Given the description of an element on the screen output the (x, y) to click on. 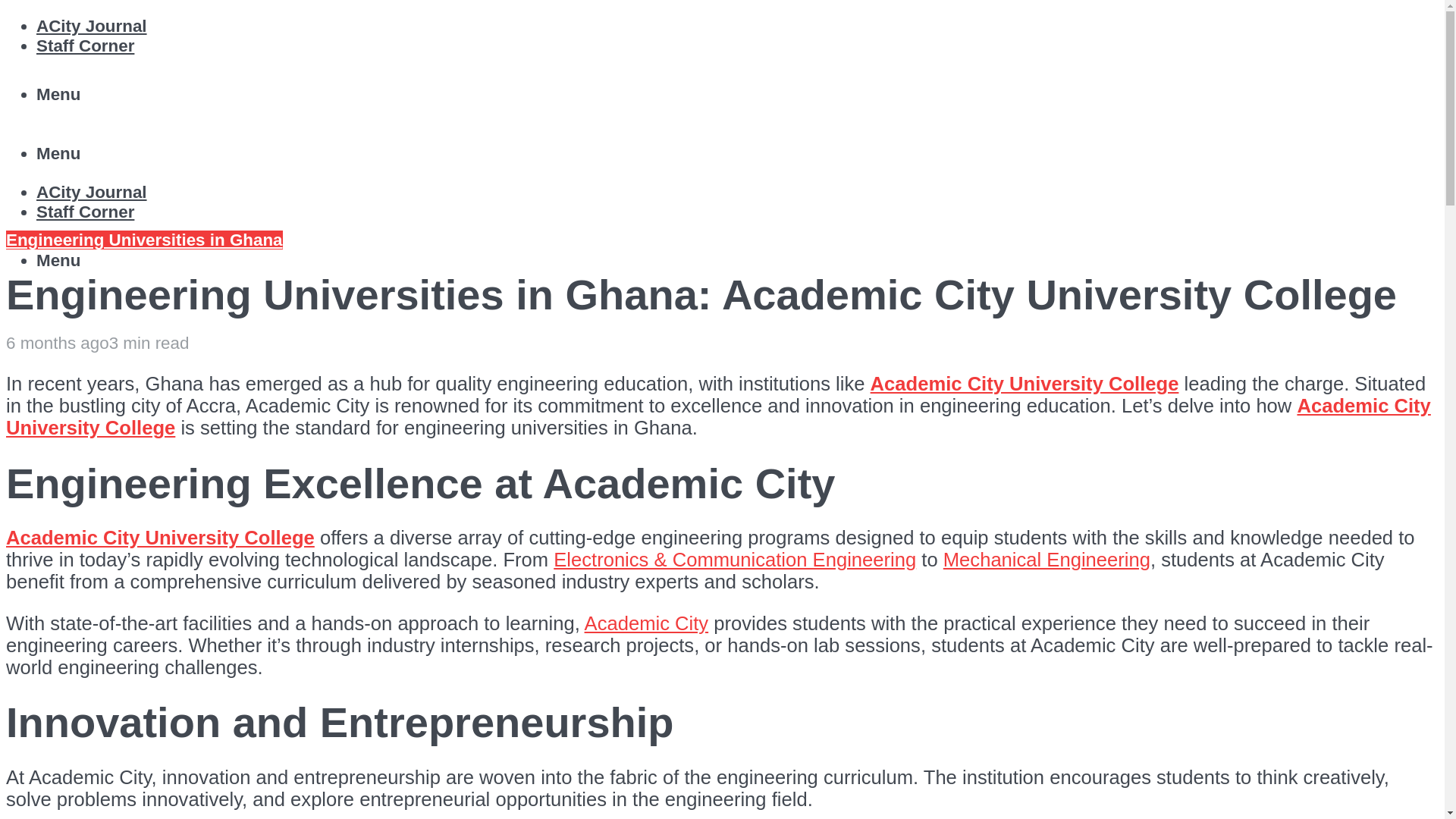
Academic City University College (1024, 383)
Academic City University College (159, 537)
ACity Journal (91, 191)
Staff Corner (84, 211)
ACity Journal (91, 26)
Menu (58, 153)
Staff Corner (84, 45)
Mechanical Engineering (1046, 559)
